Given the description of an element on the screen output the (x, y) to click on. 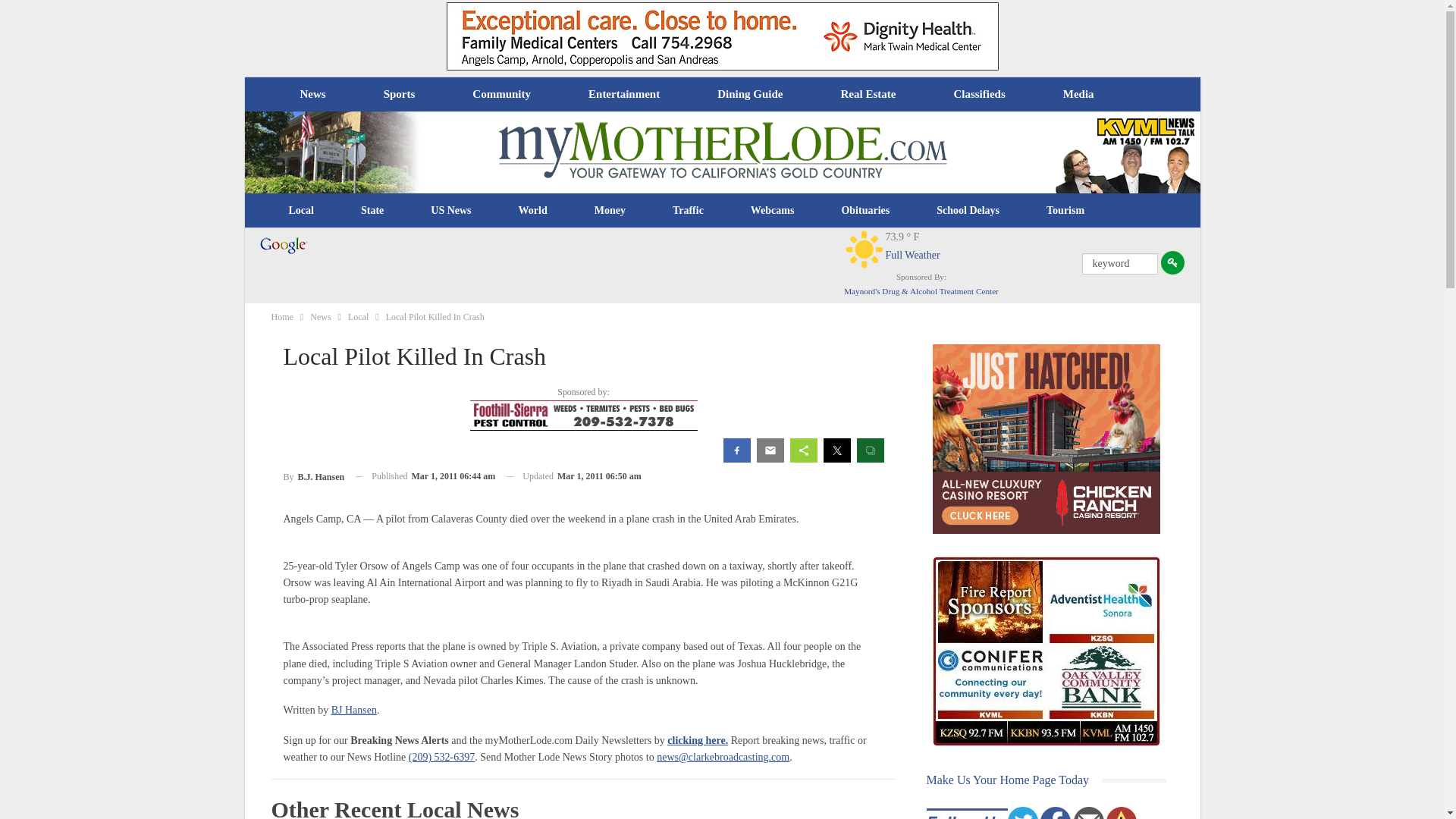
Tourism (1065, 210)
Foothill-Sierra Pest Control (583, 415)
Sports (399, 93)
Submit (1172, 262)
Clear (864, 249)
Webcams (772, 210)
